Given the description of an element on the screen output the (x, y) to click on. 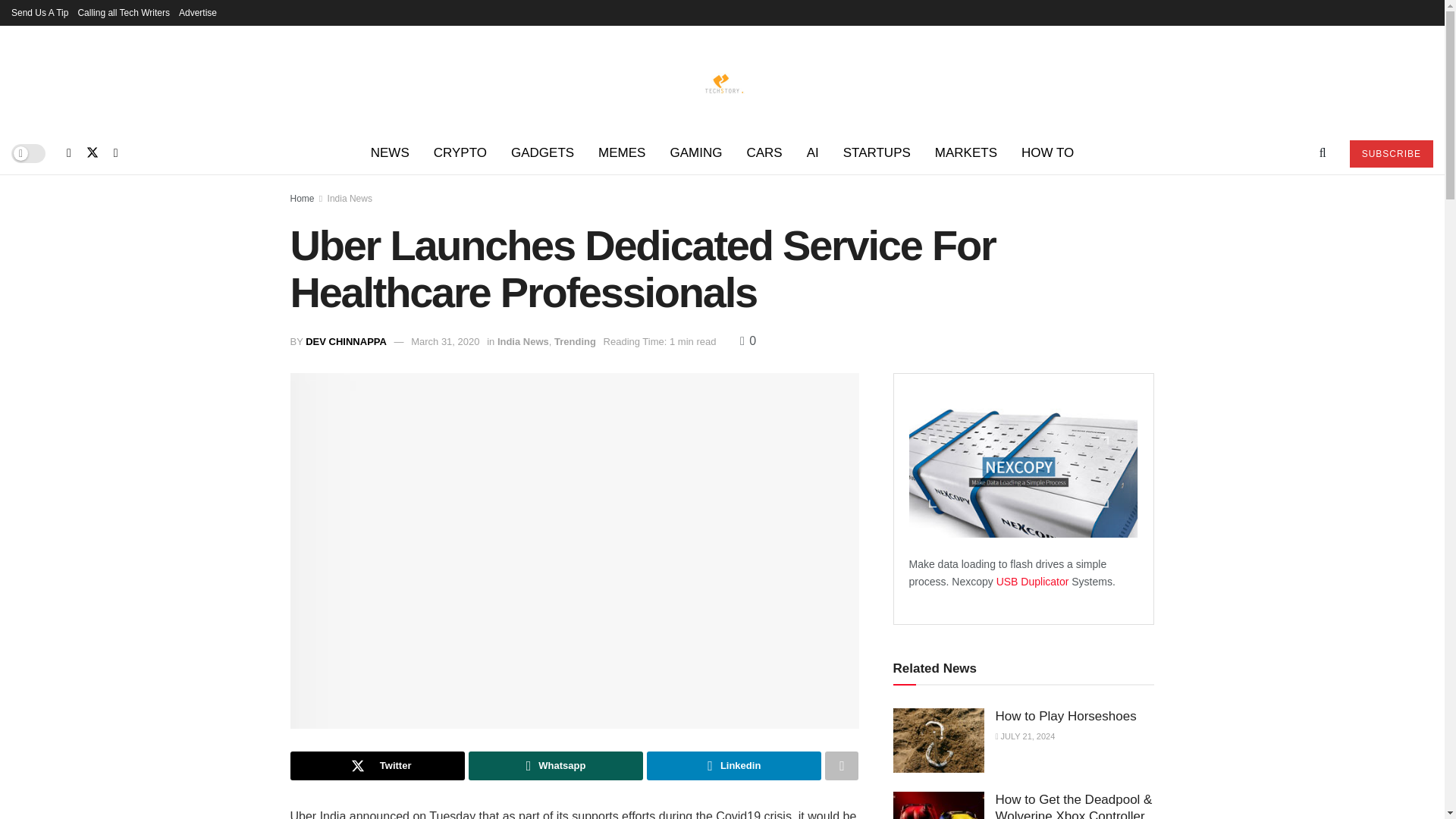
AI (812, 152)
Advertise (197, 12)
GAMING (695, 152)
USB duplicator (1033, 581)
Calling all Tech Writers (123, 12)
SUBSCRIBE (1390, 153)
STARTUPS (877, 152)
Send Us A Tip (39, 12)
India News (349, 198)
MEMES (622, 152)
CRYPTO (460, 152)
HOW TO (1047, 152)
CARS (763, 152)
NEWS (390, 152)
GADGETS (542, 152)
